Given the description of an element on the screen output the (x, y) to click on. 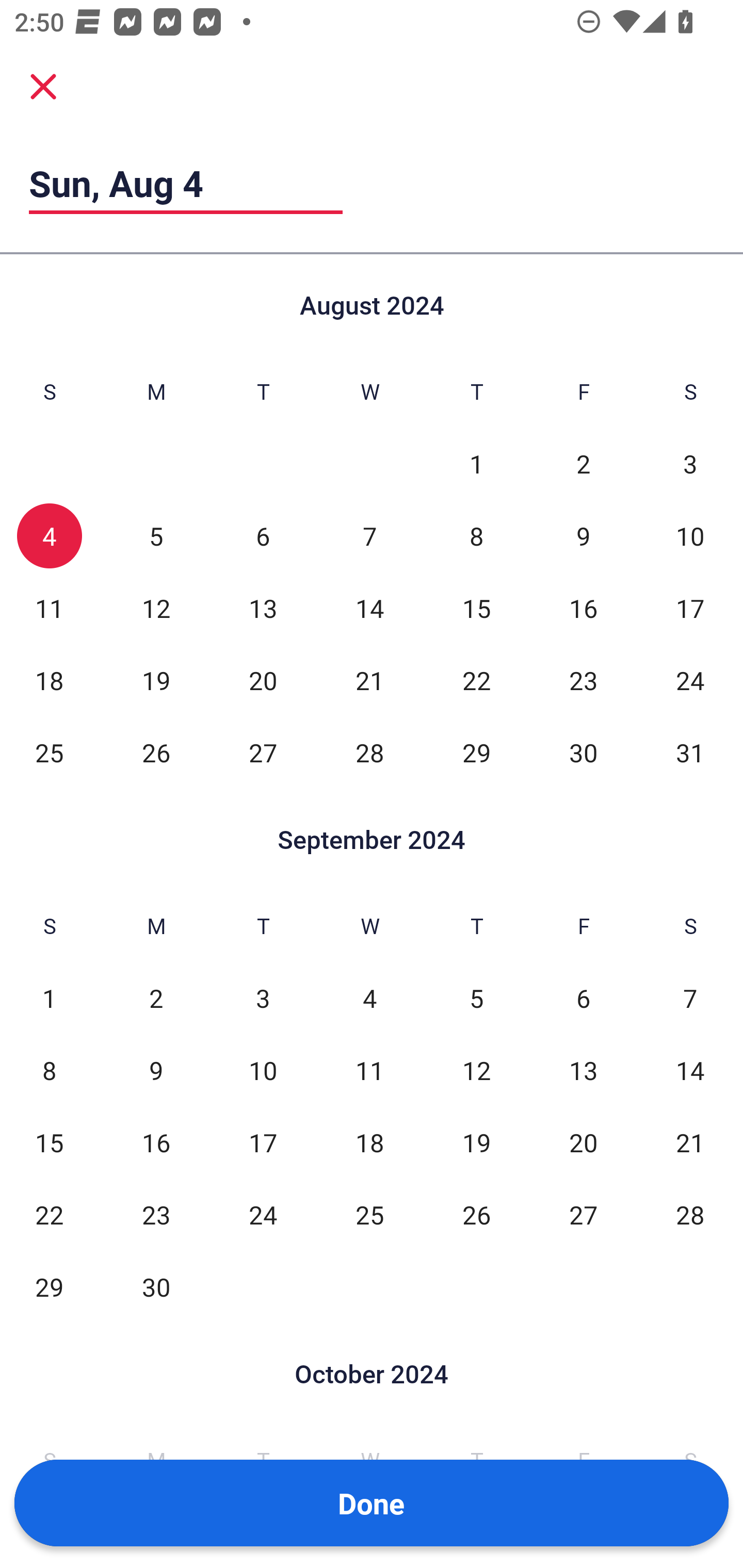
Cancel (43, 86)
Sun, Aug 4 (185, 182)
1 Thu, Aug 1, Not Selected (476, 464)
2 Fri, Aug 2, Not Selected (583, 464)
3 Sat, Aug 3, Not Selected (690, 464)
4 Sun, Aug 4, Selected (49, 536)
5 Mon, Aug 5, Not Selected (156, 536)
6 Tue, Aug 6, Not Selected (263, 536)
7 Wed, Aug 7, Not Selected (369, 536)
8 Thu, Aug 8, Not Selected (476, 536)
9 Fri, Aug 9, Not Selected (583, 536)
10 Sat, Aug 10, Not Selected (690, 536)
11 Sun, Aug 11, Not Selected (49, 608)
12 Mon, Aug 12, Not Selected (156, 608)
13 Tue, Aug 13, Not Selected (263, 608)
14 Wed, Aug 14, Not Selected (369, 608)
15 Thu, Aug 15, Not Selected (476, 608)
16 Fri, Aug 16, Not Selected (583, 608)
17 Sat, Aug 17, Not Selected (690, 608)
18 Sun, Aug 18, Not Selected (49, 680)
19 Mon, Aug 19, Not Selected (156, 680)
20 Tue, Aug 20, Not Selected (263, 680)
21 Wed, Aug 21, Not Selected (369, 680)
22 Thu, Aug 22, Not Selected (476, 680)
23 Fri, Aug 23, Not Selected (583, 680)
24 Sat, Aug 24, Not Selected (690, 680)
25 Sun, Aug 25, Not Selected (49, 752)
26 Mon, Aug 26, Not Selected (156, 752)
27 Tue, Aug 27, Not Selected (263, 752)
28 Wed, Aug 28, Not Selected (369, 752)
29 Thu, Aug 29, Not Selected (476, 752)
30 Fri, Aug 30, Not Selected (583, 752)
31 Sat, Aug 31, Not Selected (690, 752)
1 Sun, Sep 1, Not Selected (49, 997)
2 Mon, Sep 2, Not Selected (156, 997)
3 Tue, Sep 3, Not Selected (263, 997)
4 Wed, Sep 4, Not Selected (369, 997)
5 Thu, Sep 5, Not Selected (476, 997)
6 Fri, Sep 6, Not Selected (583, 997)
7 Sat, Sep 7, Not Selected (690, 997)
8 Sun, Sep 8, Not Selected (49, 1070)
9 Mon, Sep 9, Not Selected (156, 1070)
10 Tue, Sep 10, Not Selected (263, 1070)
11 Wed, Sep 11, Not Selected (369, 1070)
12 Thu, Sep 12, Not Selected (476, 1070)
13 Fri, Sep 13, Not Selected (583, 1070)
14 Sat, Sep 14, Not Selected (690, 1070)
15 Sun, Sep 15, Not Selected (49, 1143)
16 Mon, Sep 16, Not Selected (156, 1143)
17 Tue, Sep 17, Not Selected (263, 1143)
18 Wed, Sep 18, Not Selected (369, 1143)
19 Thu, Sep 19, Not Selected (476, 1143)
20 Fri, Sep 20, Not Selected (583, 1143)
21 Sat, Sep 21, Not Selected (690, 1143)
22 Sun, Sep 22, Not Selected (49, 1215)
23 Mon, Sep 23, Not Selected (156, 1215)
24 Tue, Sep 24, Not Selected (263, 1215)
25 Wed, Sep 25, Not Selected (369, 1215)
26 Thu, Sep 26, Not Selected (476, 1215)
27 Fri, Sep 27, Not Selected (583, 1215)
28 Sat, Sep 28, Not Selected (690, 1215)
29 Sun, Sep 29, Not Selected (49, 1287)
30 Mon, Sep 30, Not Selected (156, 1287)
Done Button Done (371, 1502)
